Given the description of an element on the screen output the (x, y) to click on. 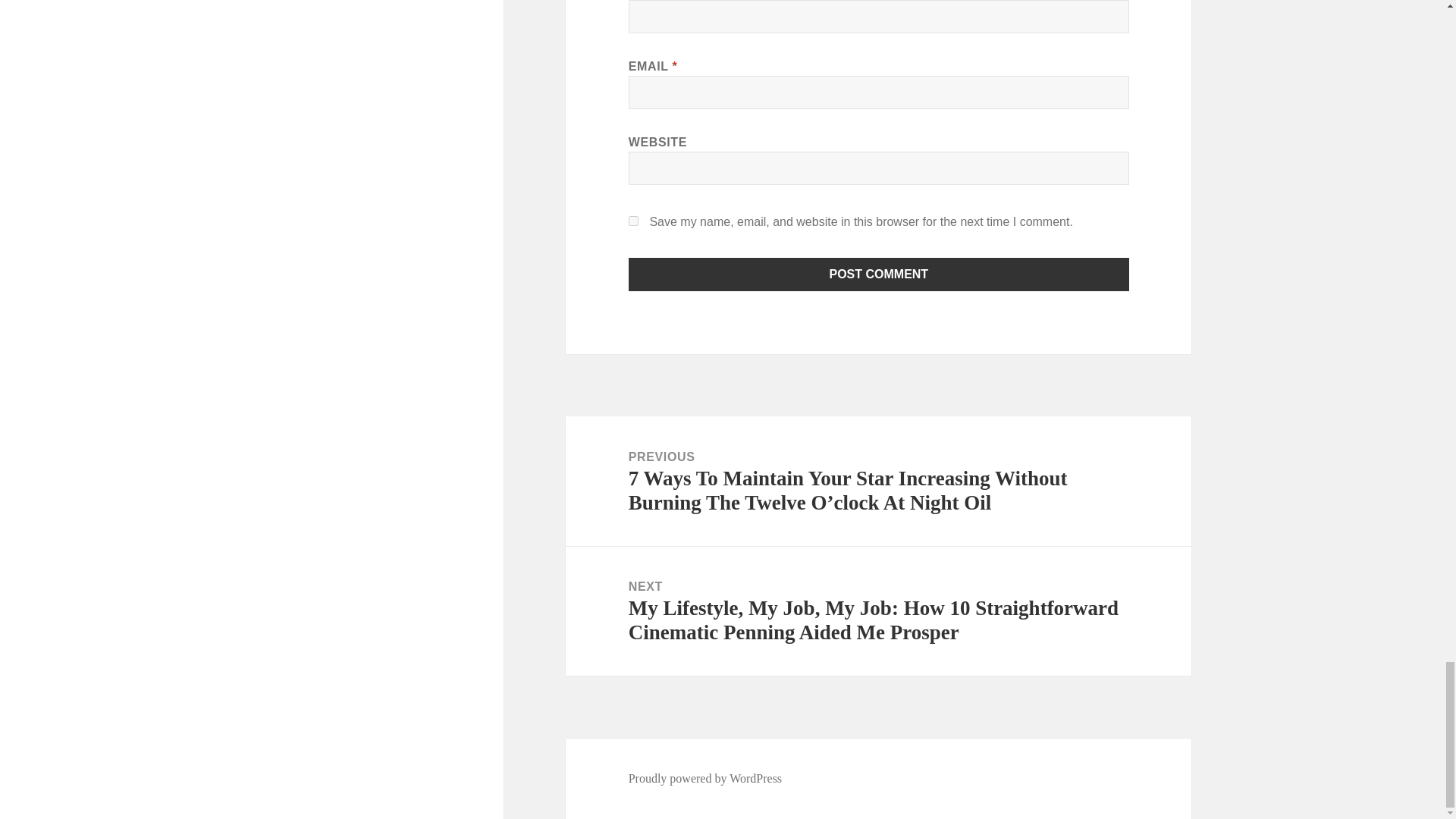
Post Comment (878, 274)
Post Comment (878, 274)
yes (633, 221)
Proudly powered by WordPress (704, 778)
